Given the description of an element on the screen output the (x, y) to click on. 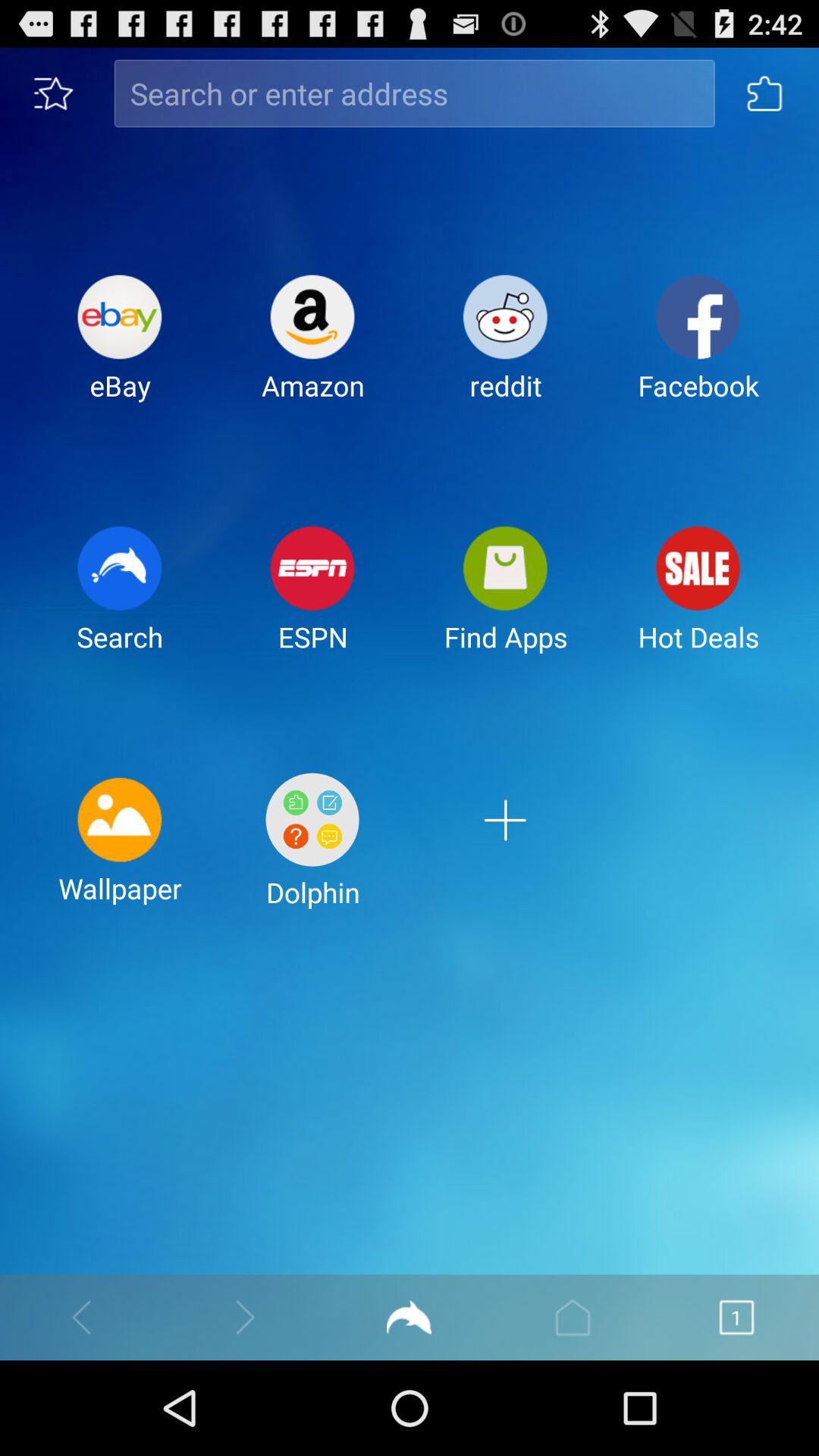
add new app (505, 852)
